Given the description of an element on the screen output the (x, y) to click on. 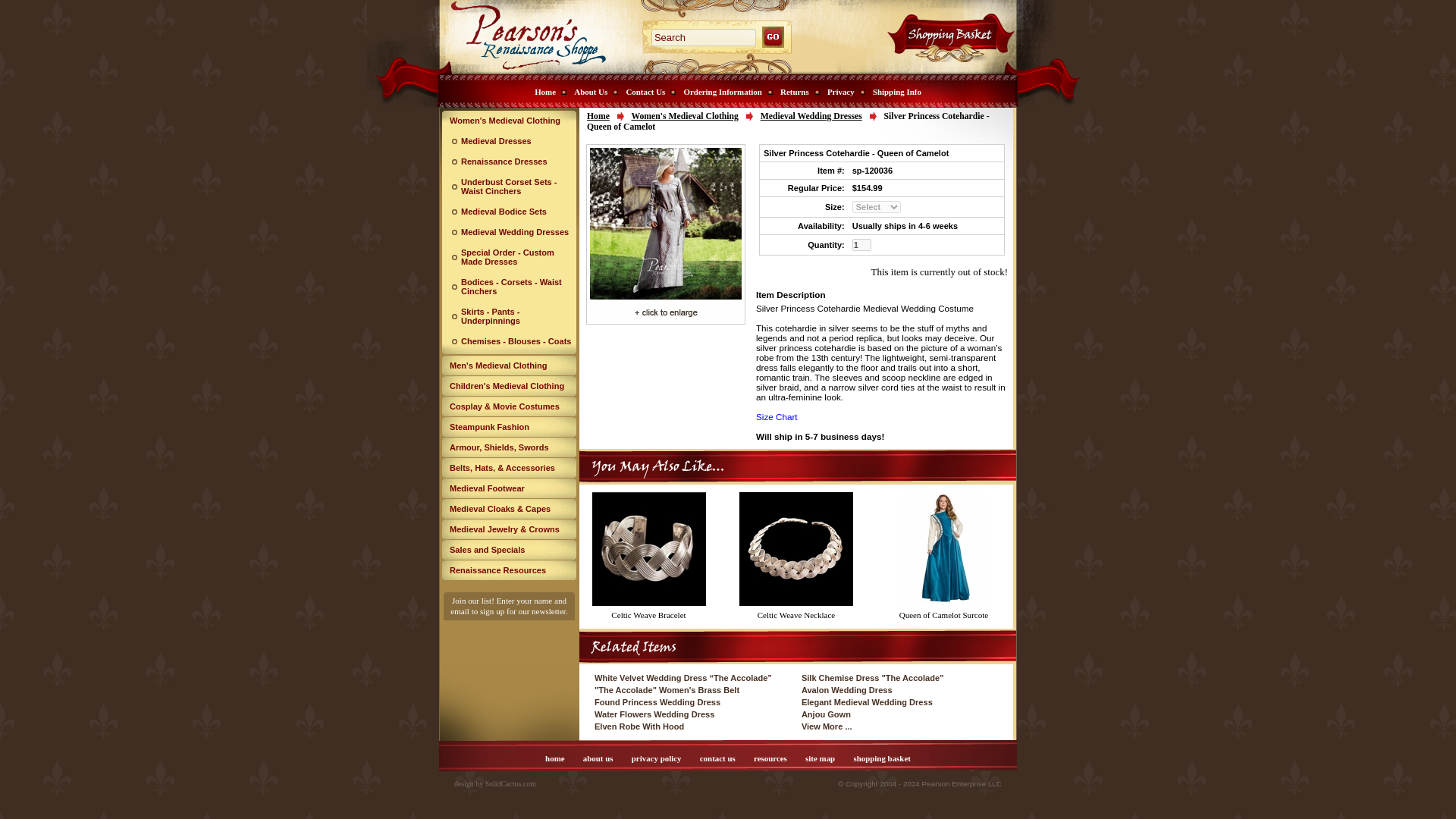
Medieval Dresses (509, 141)
Celtic Weave Bracelet (648, 614)
Special Order - Custom Made Dresses (509, 256)
Anjou Gown (826, 714)
About Us (593, 91)
Home (547, 91)
Women's Medieval Clothing (509, 120)
Size Chart (776, 416)
Celtic Weave Necklace (796, 614)
Ordering Information (725, 91)
Elegant Medieval Wedding Dress (867, 701)
Elven Robe With Hood (639, 726)
Avalon Wedding Dress (847, 689)
Queen of Camelot Surcote (943, 614)
View More ... (826, 726)
